Given the description of an element on the screen output the (x, y) to click on. 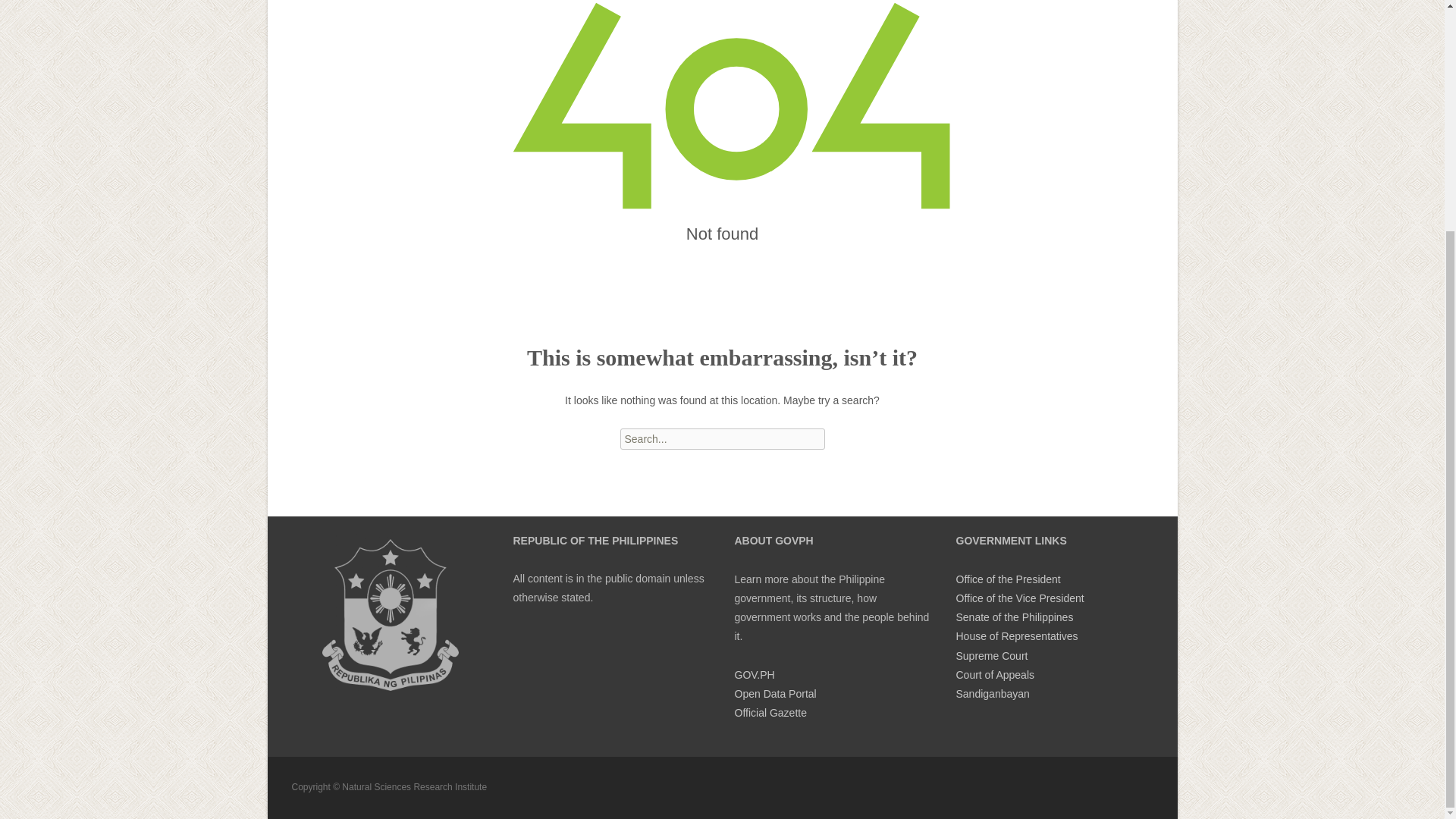
Senate of the Philippines (1014, 616)
Court of Appeals (994, 674)
Sandiganbayan (992, 693)
Supreme Court (991, 655)
Official Gazette (769, 712)
Office of the President (1007, 579)
Office of the Vice President (1019, 598)
GOV.PH (753, 674)
House of Representatives (1016, 635)
Open Data Portal (774, 693)
Search for: (722, 438)
